Given the description of an element on the screen output the (x, y) to click on. 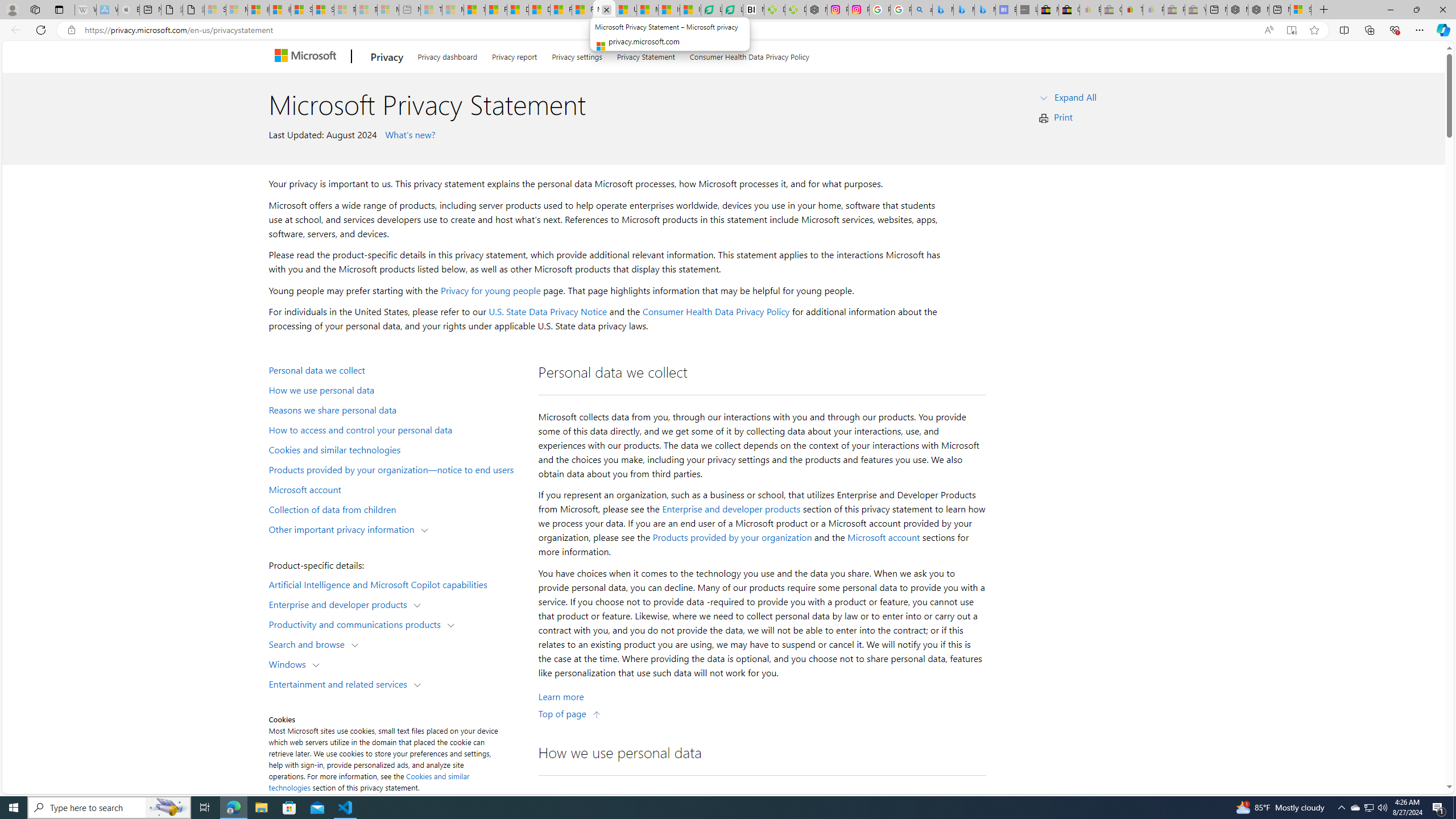
Foo BAR | Trusted Community Engagement and Contributions (582, 9)
alabama high school quarterback dies - Search (922, 9)
Products provided by your organization (732, 537)
Reasons we share personal data (395, 409)
Nvidia va a poner a prueba la paciencia de los inversores (753, 9)
